Given the description of an element on the screen output the (x, y) to click on. 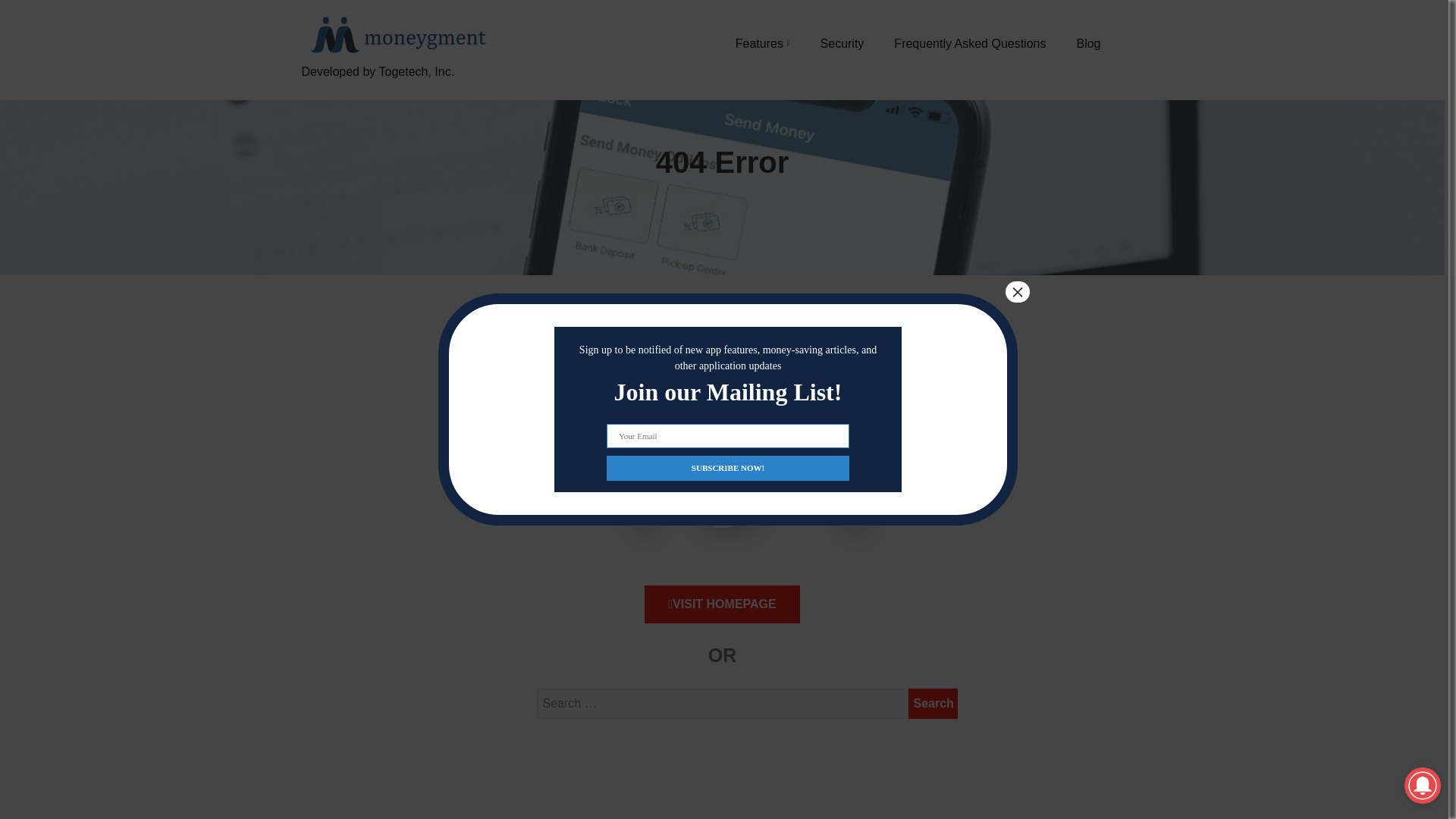
Search (933, 703)
Search (933, 703)
SUBSCRIBE NOW! (727, 467)
Search (933, 703)
VISIT HOMEPAGE (722, 604)
Frequently Asked Questions (969, 43)
Developed by Togetech, Inc. (396, 89)
SUBSCRIBE NOW! (727, 467)
Security (842, 43)
